Given the description of an element on the screen output the (x, y) to click on. 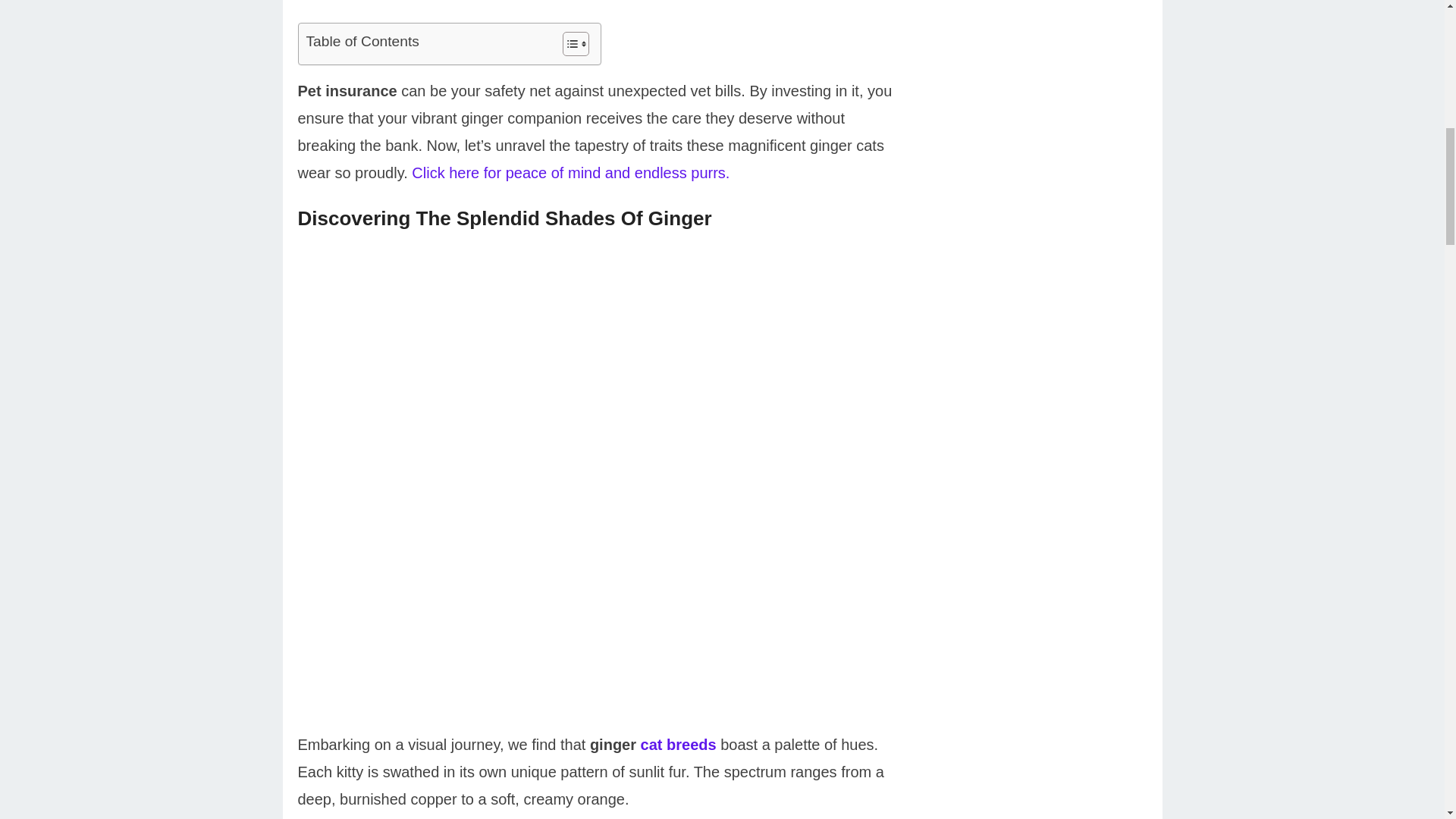
Click here for peace of mind and endless purrs. (570, 172)
cat breeds (678, 744)
